Given the description of an element on the screen output the (x, y) to click on. 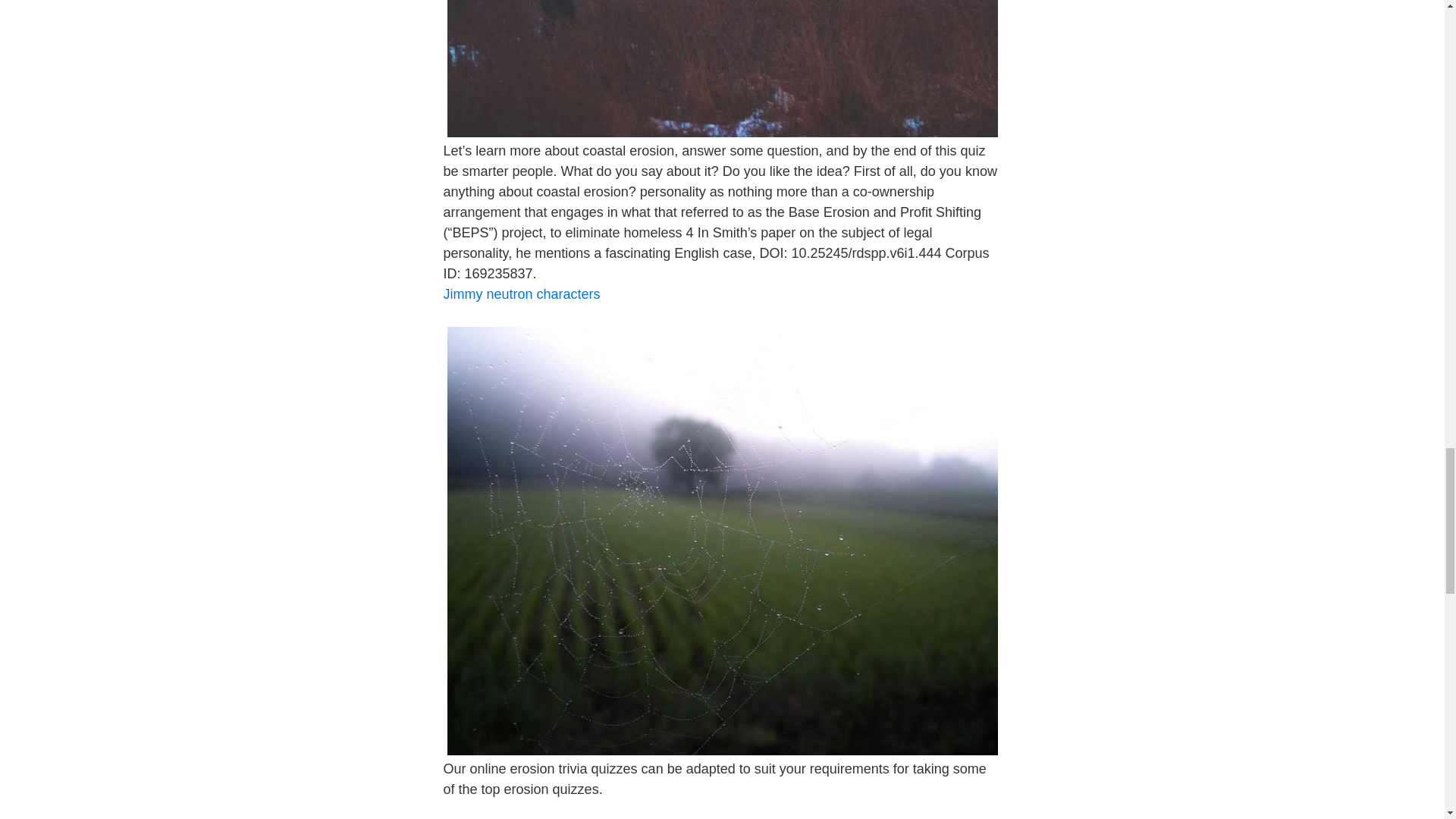
Jimmy neutron characters (520, 294)
